Given the description of an element on the screen output the (x, y) to click on. 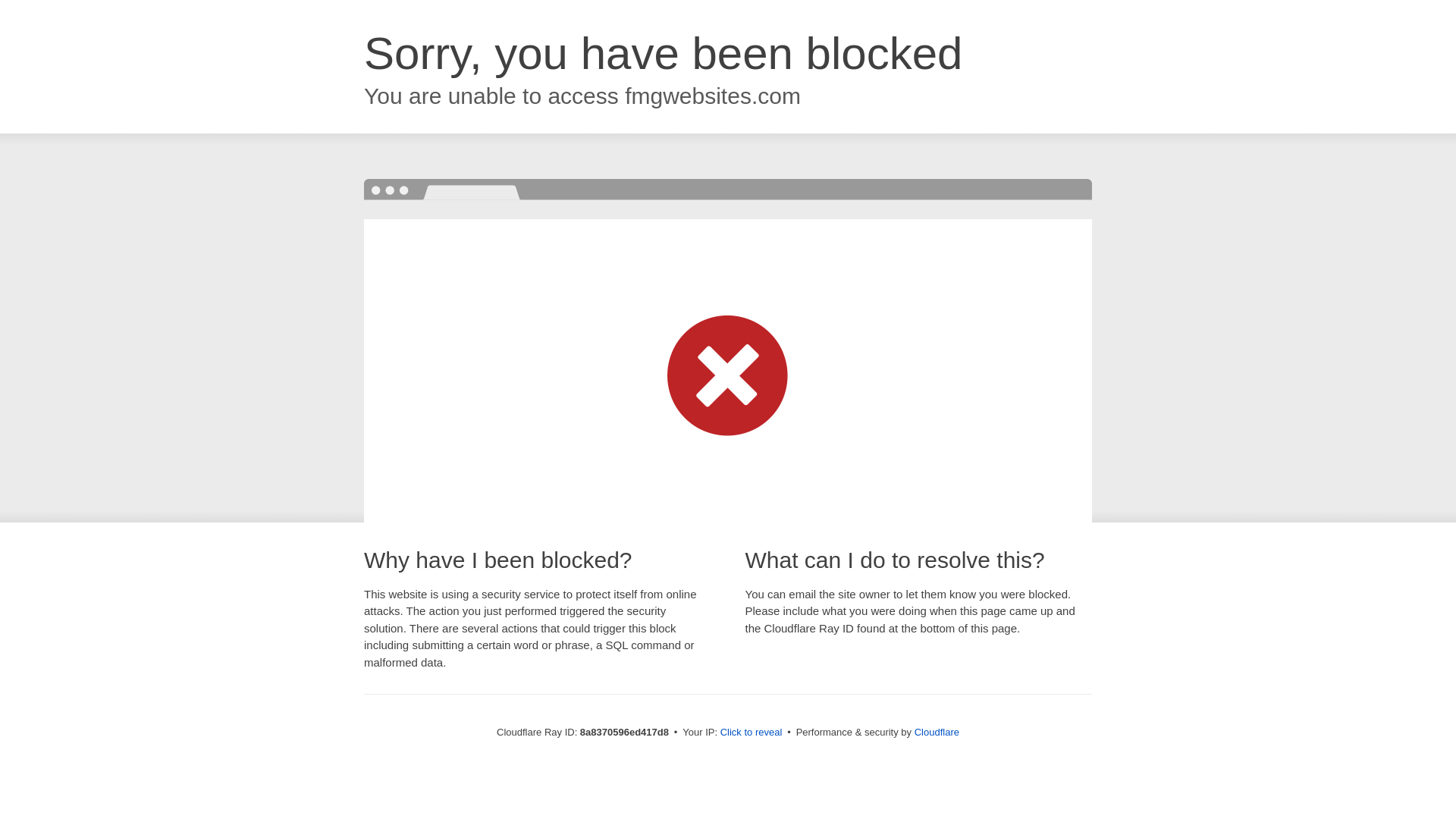
Cloudflare (936, 731)
Click to reveal (751, 732)
